Given the description of an element on the screen output the (x, y) to click on. 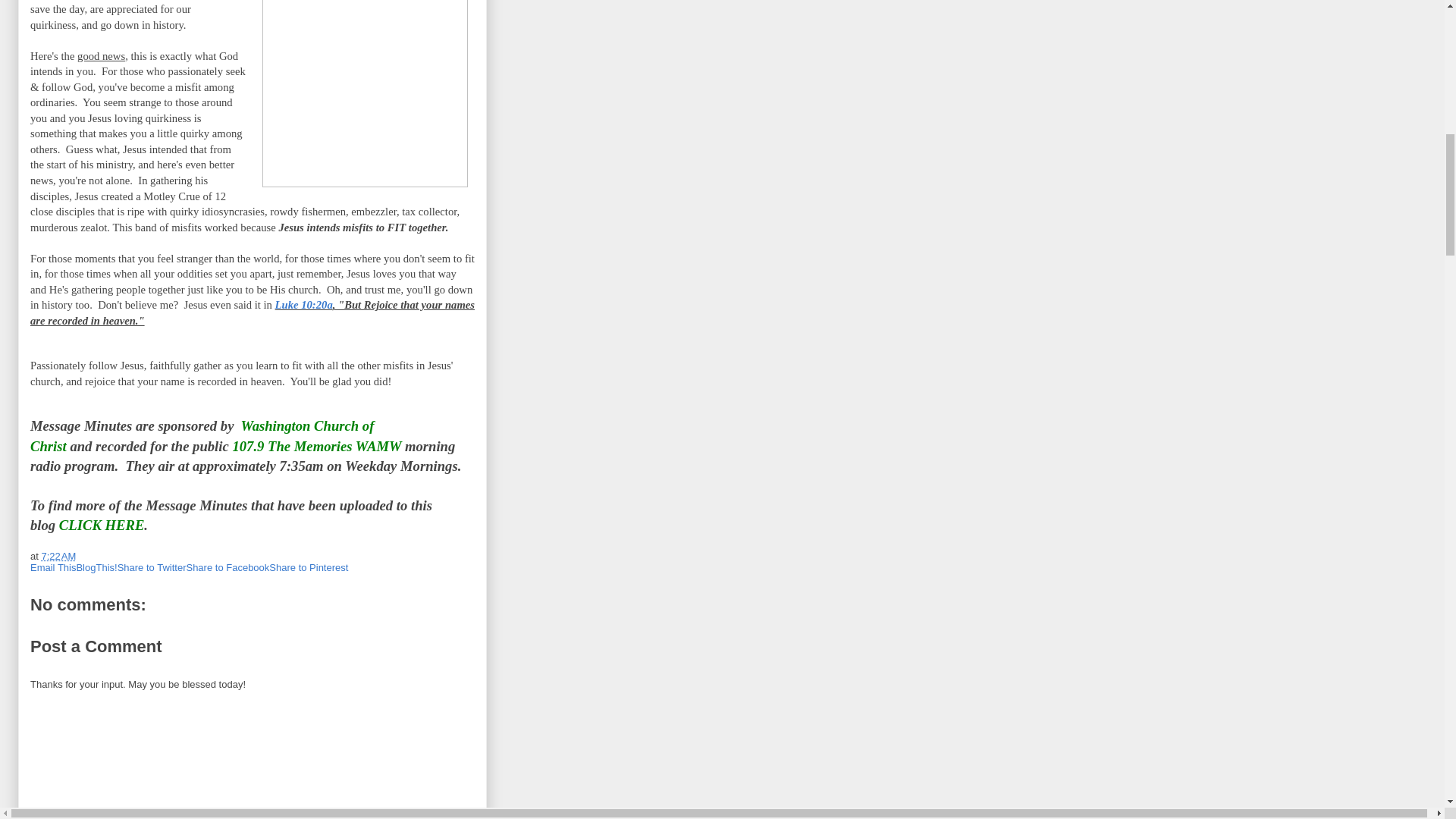
Share to Facebook (227, 567)
Share to Twitter (151, 567)
Share to Facebook (227, 567)
CLICK HERE (101, 524)
Share to Twitter (151, 567)
Washington Church of Christ (202, 435)
Email This (52, 567)
Share to Pinterest (308, 567)
Luke 10:20a (304, 304)
Email This (52, 567)
permanent link (57, 555)
107.9 The Memories WAMW (316, 446)
BlogThis! (95, 567)
Share to Pinterest (308, 567)
